Given the description of an element on the screen output the (x, y) to click on. 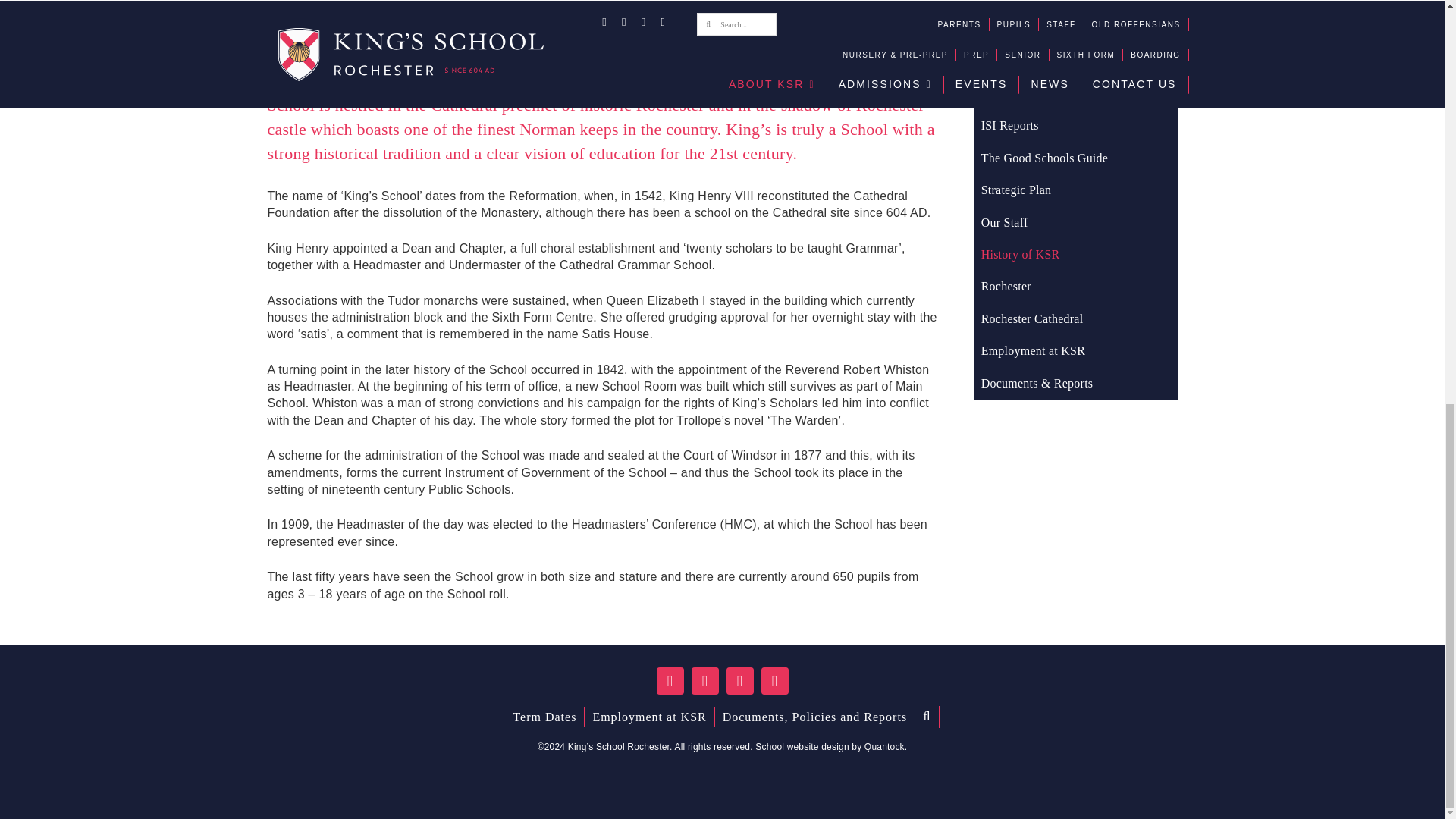
LinkedIn (775, 680)
Search (927, 716)
Facebook (670, 680)
Instagram (740, 680)
X (705, 680)
